Given the description of an element on the screen output the (x, y) to click on. 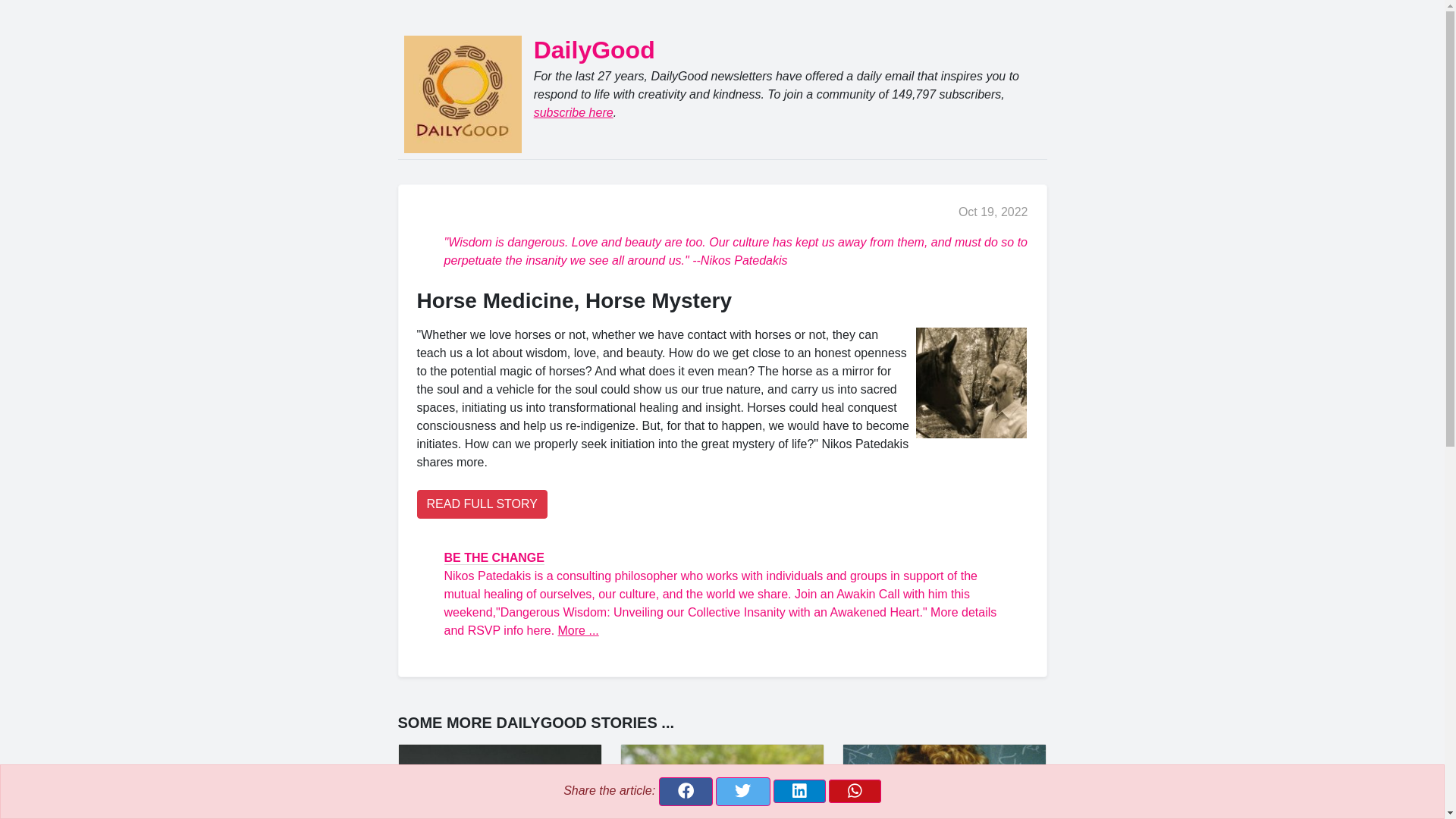
subscribe here (573, 112)
READ FULL STORY (481, 503)
More ... (577, 630)
